Given the description of an element on the screen output the (x, y) to click on. 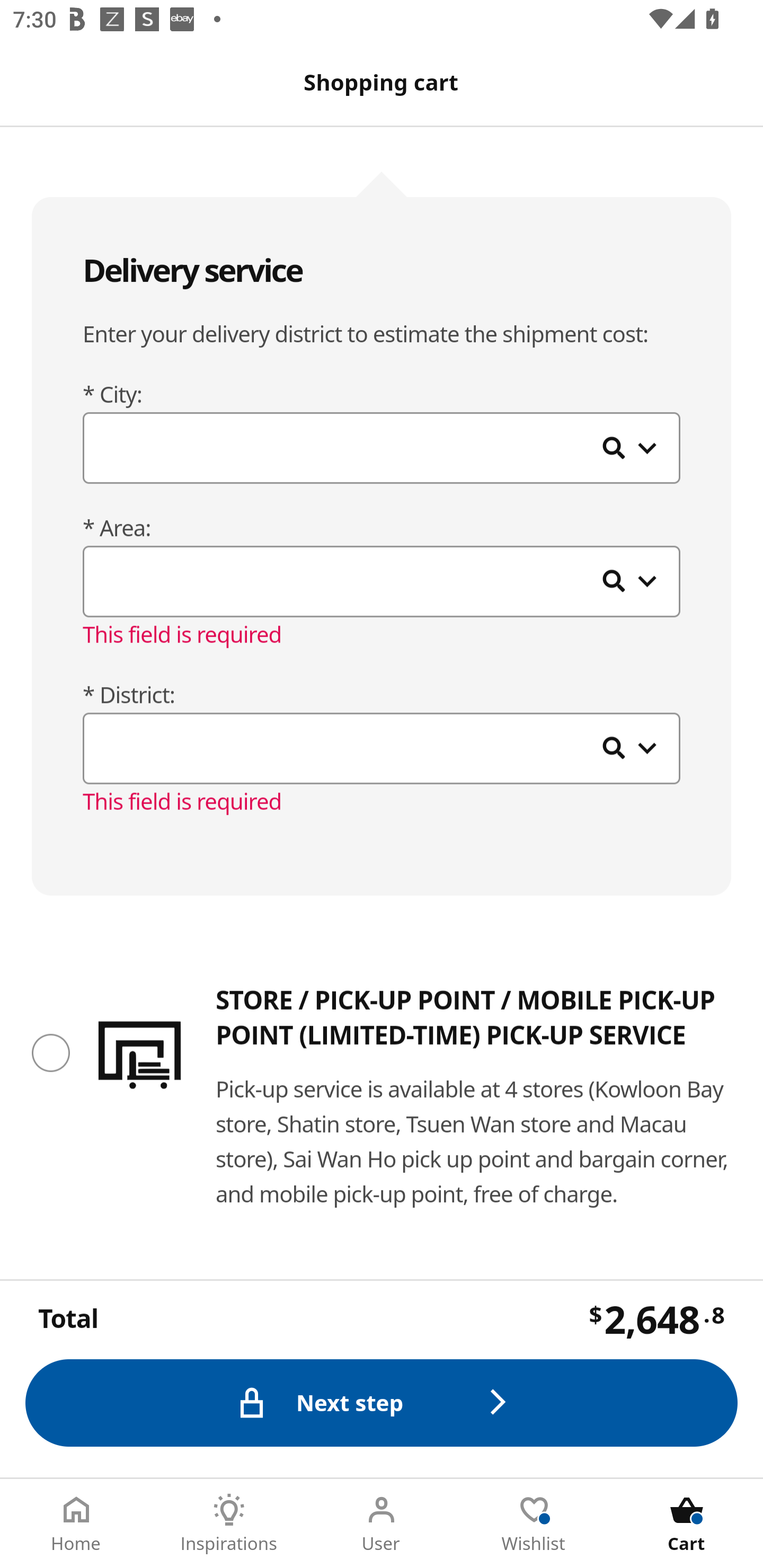
  (381, 449)
  (381, 583)
  (381, 750)
Home
Tab 1 of 5 (76, 1522)
Inspirations
Tab 2 of 5 (228, 1522)
User
Tab 3 of 5 (381, 1522)
Wishlist
Tab 4 of 5 (533, 1522)
Cart
Tab 5 of 5 (686, 1522)
